Given the description of an element on the screen output the (x, y) to click on. 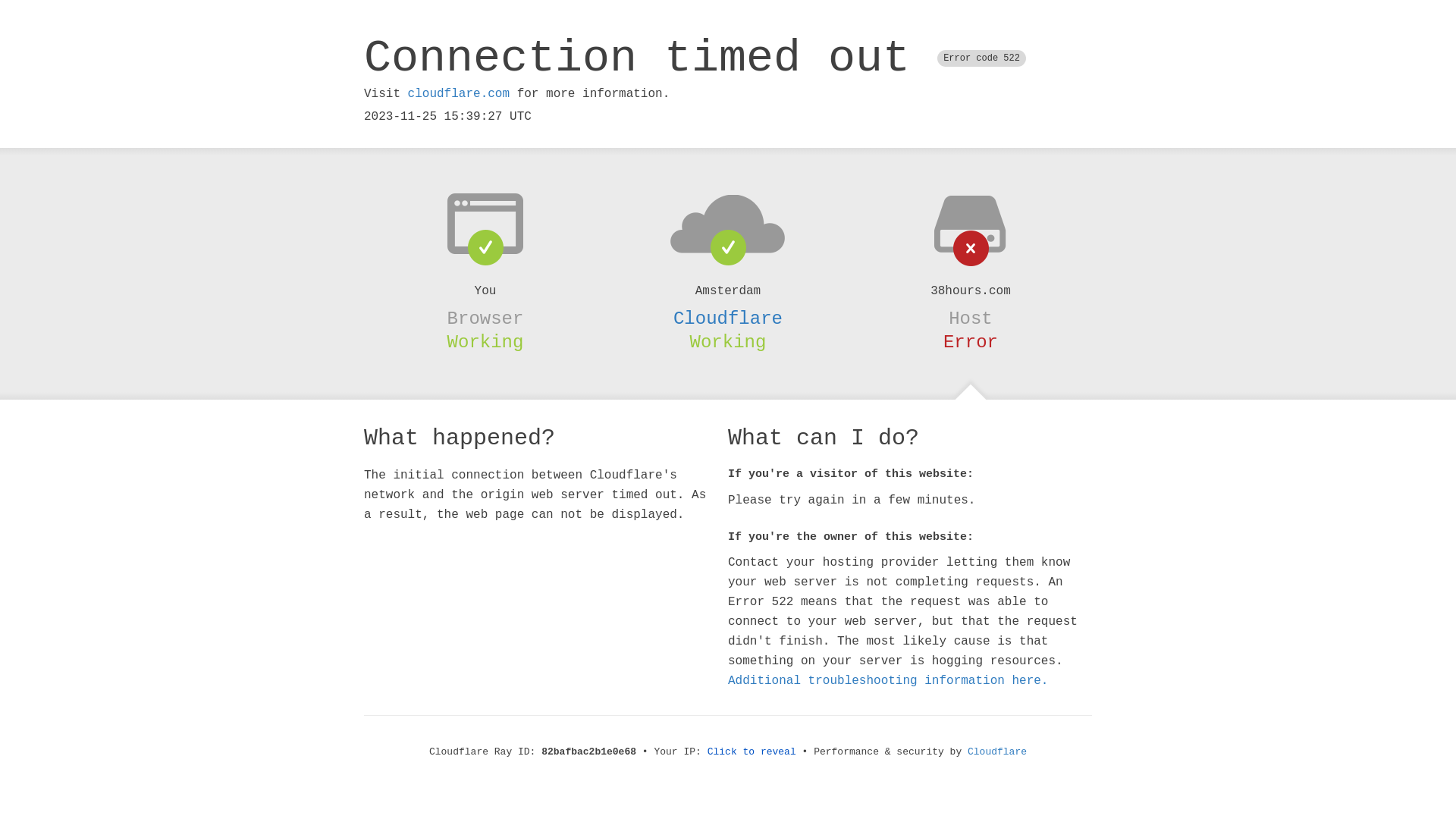
cloudflare.com Element type: text (458, 93)
Cloudflare Element type: text (727, 318)
Additional troubleshooting information here. Element type: text (888, 680)
Cloudflare Element type: text (996, 751)
Click to reveal Element type: text (751, 751)
